Given the description of an element on the screen output the (x, y) to click on. 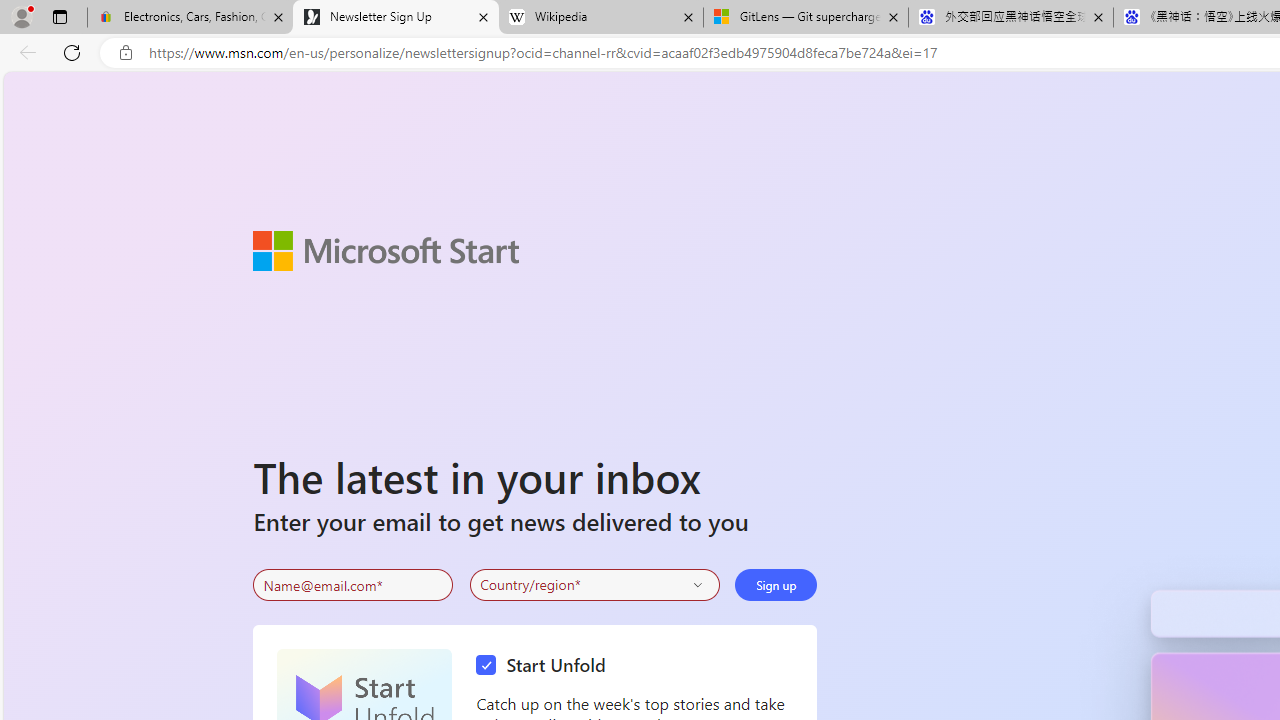
Select your country (594, 584)
